Given the description of an element on the screen output the (x, y) to click on. 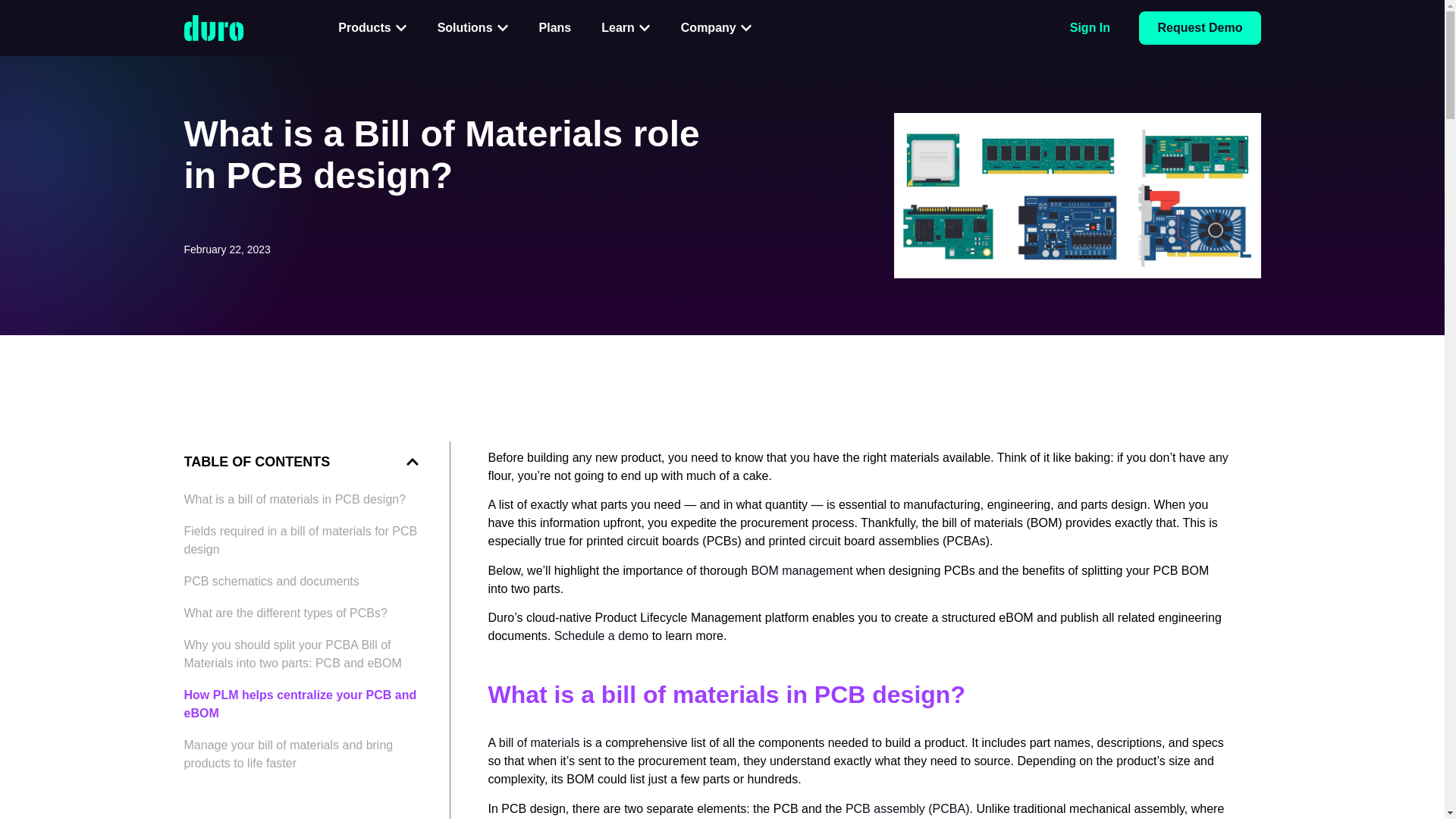
Request Demo (1199, 28)
Plans (555, 27)
Sign In (1089, 27)
